Given the description of an element on the screen output the (x, y) to click on. 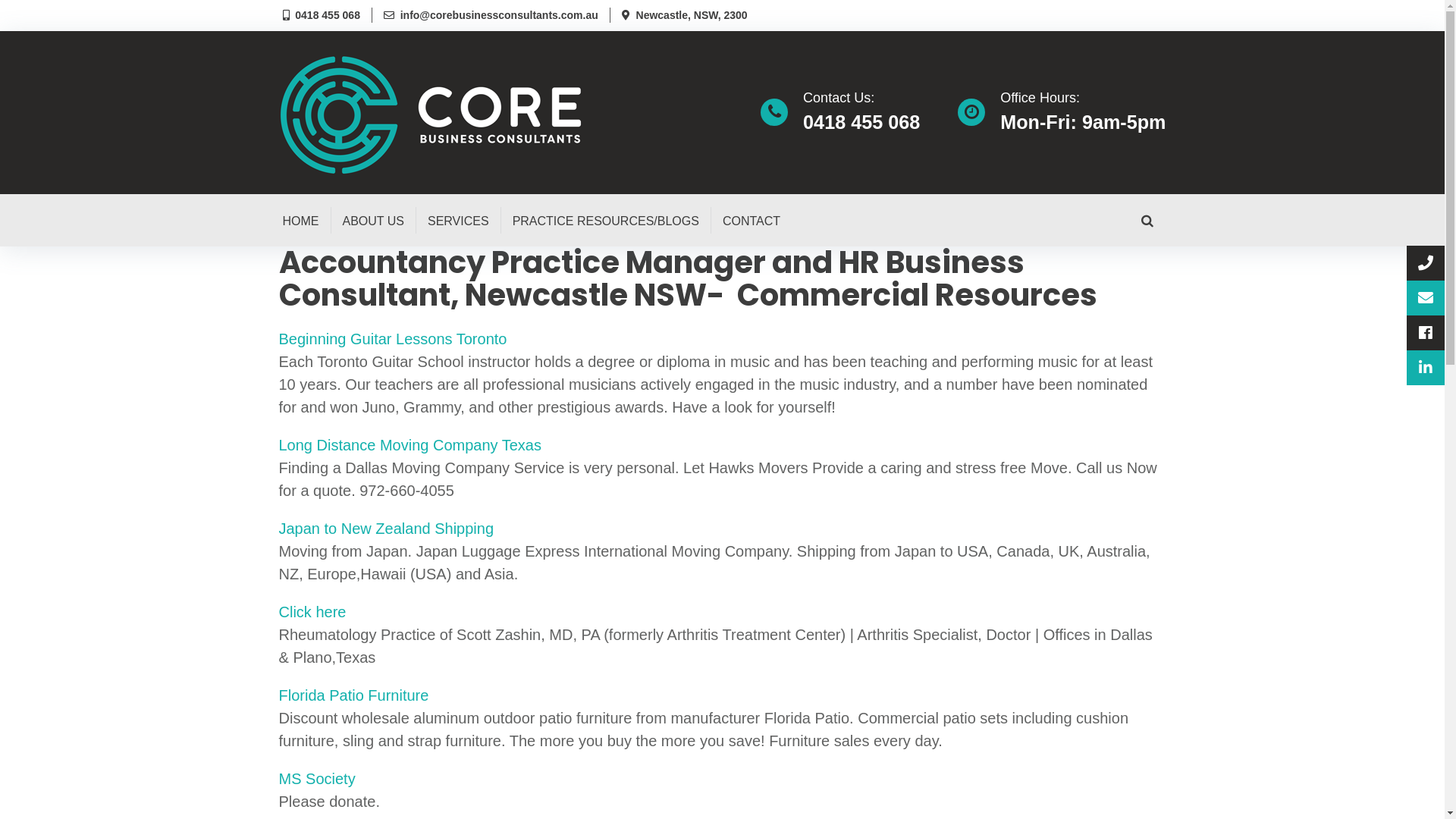
  info@corebusinessconsultants.com.au Element type: text (496, 15)
Beginning Guitar Lessons Toronto Element type: text (393, 338)
Click here Element type: text (312, 611)
ABOUT US Element type: text (373, 220)
PRACTICE RESOURCES/BLOGS Element type: text (605, 220)
Florida Patio Furniture Element type: text (354, 695)
CONTACT Element type: text (751, 220)
SERVICES Element type: text (458, 220)
HOME Element type: text (300, 220)
Long Distance Moving Company Texas Element type: text (410, 444)
Japan to New Zealand Shipping Element type: text (386, 528)
0418 455 068 Element type: text (861, 121)
MS Society Element type: text (317, 778)
Skip to content Element type: text (0, 0)
  0418 455 068 Element type: text (324, 15)
